Given the description of an element on the screen output the (x, y) to click on. 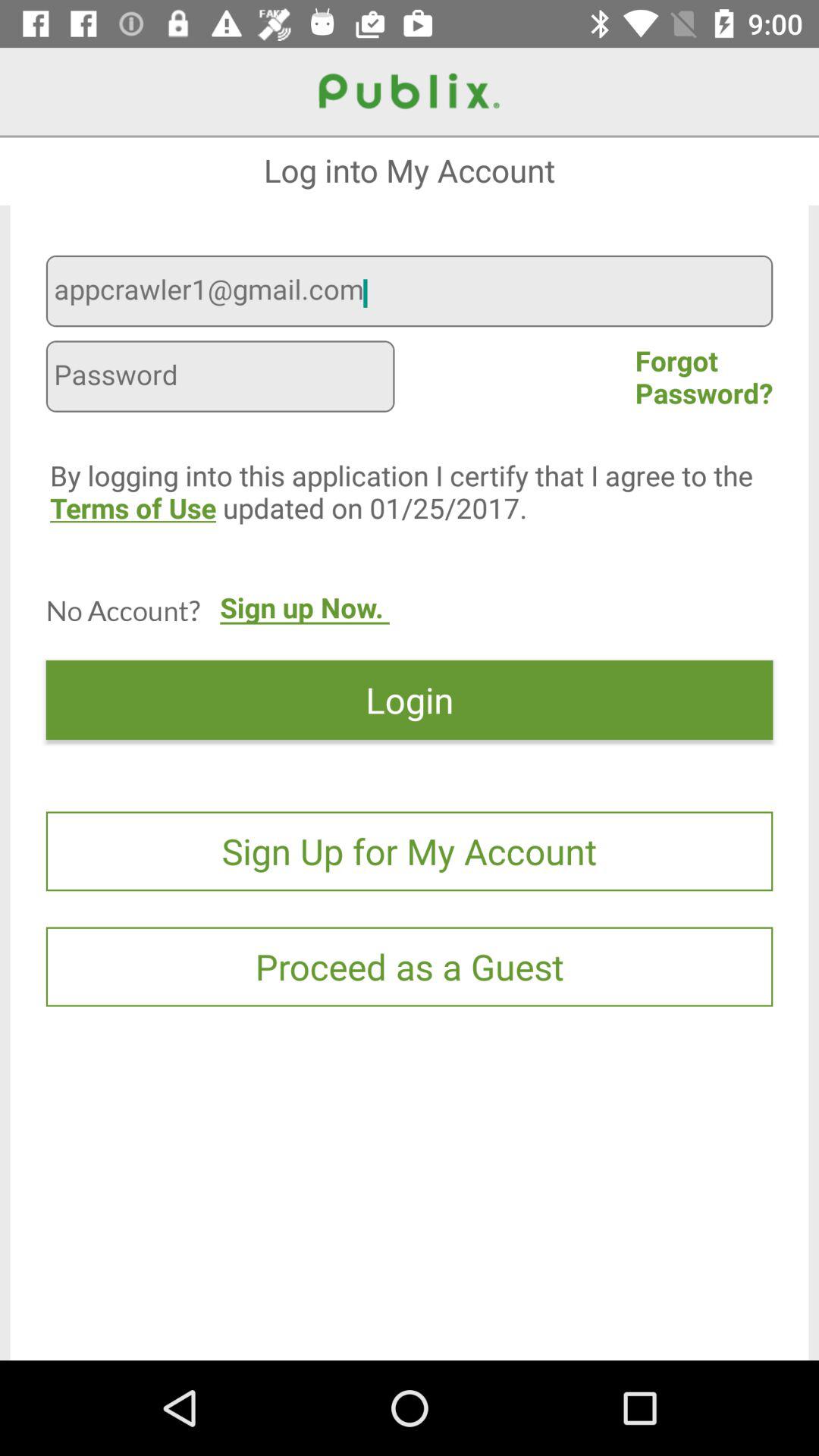
flip to proceed as a (409, 966)
